Given the description of an element on the screen output the (x, y) to click on. 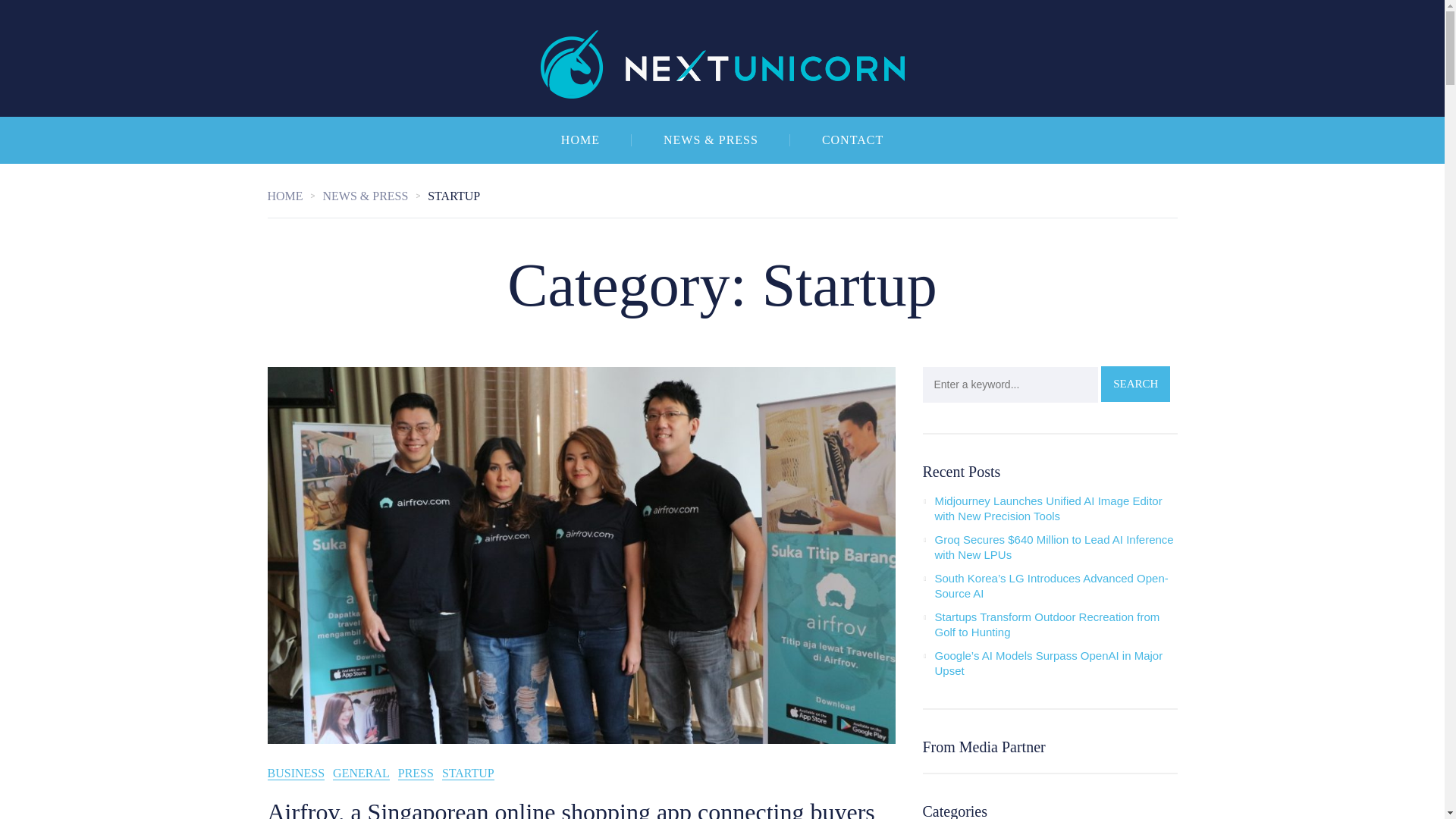
GENERAL (361, 773)
CONTACT (852, 140)
Search (1135, 384)
HOME (580, 140)
NextUnicorn (722, 58)
HOME (293, 195)
Search (1135, 384)
BUSINESS (295, 773)
STARTUP (468, 773)
